Given the description of an element on the screen output the (x, y) to click on. 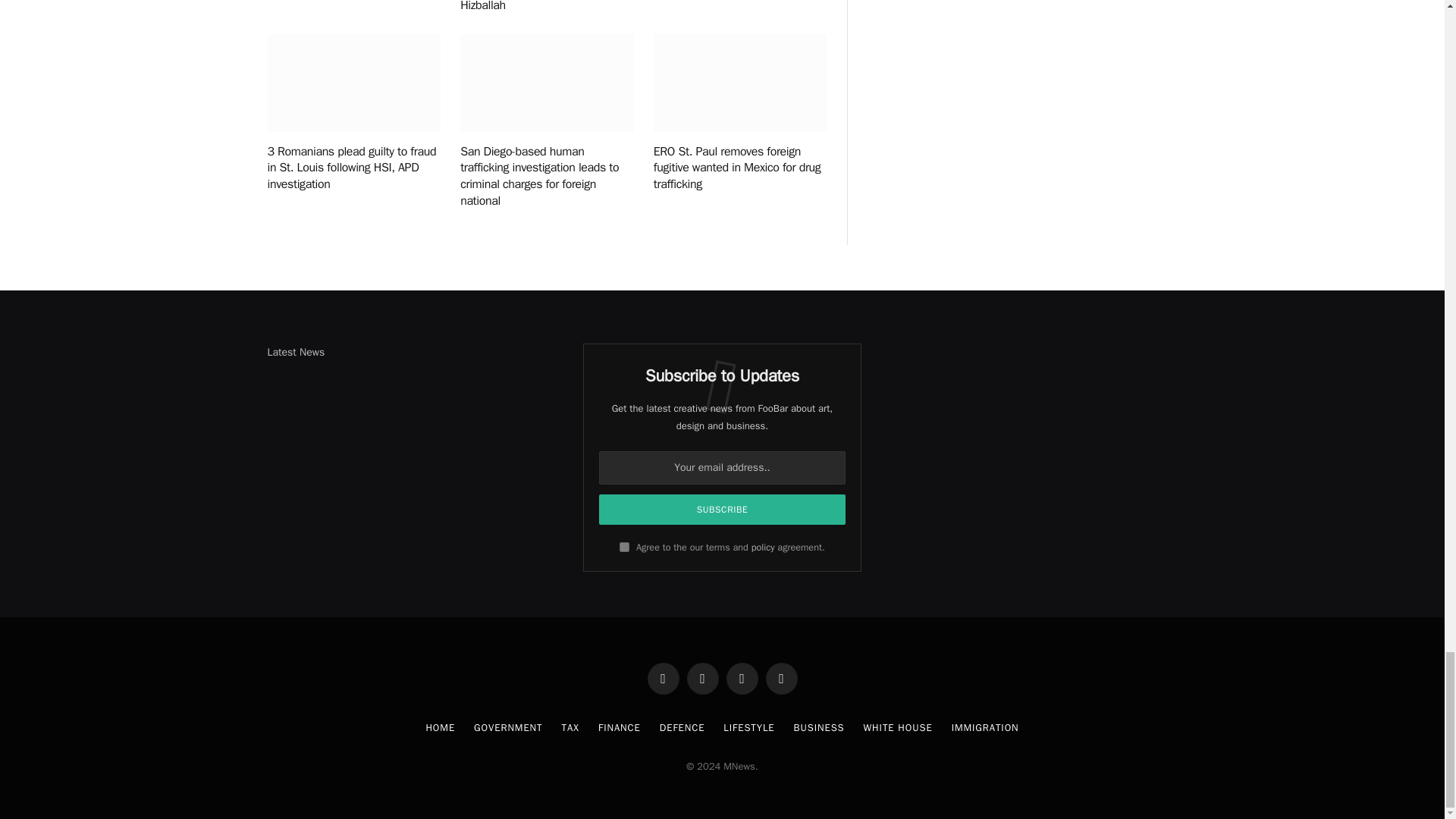
on (624, 547)
Subscribe (721, 509)
